Given the description of an element on the screen output the (x, y) to click on. 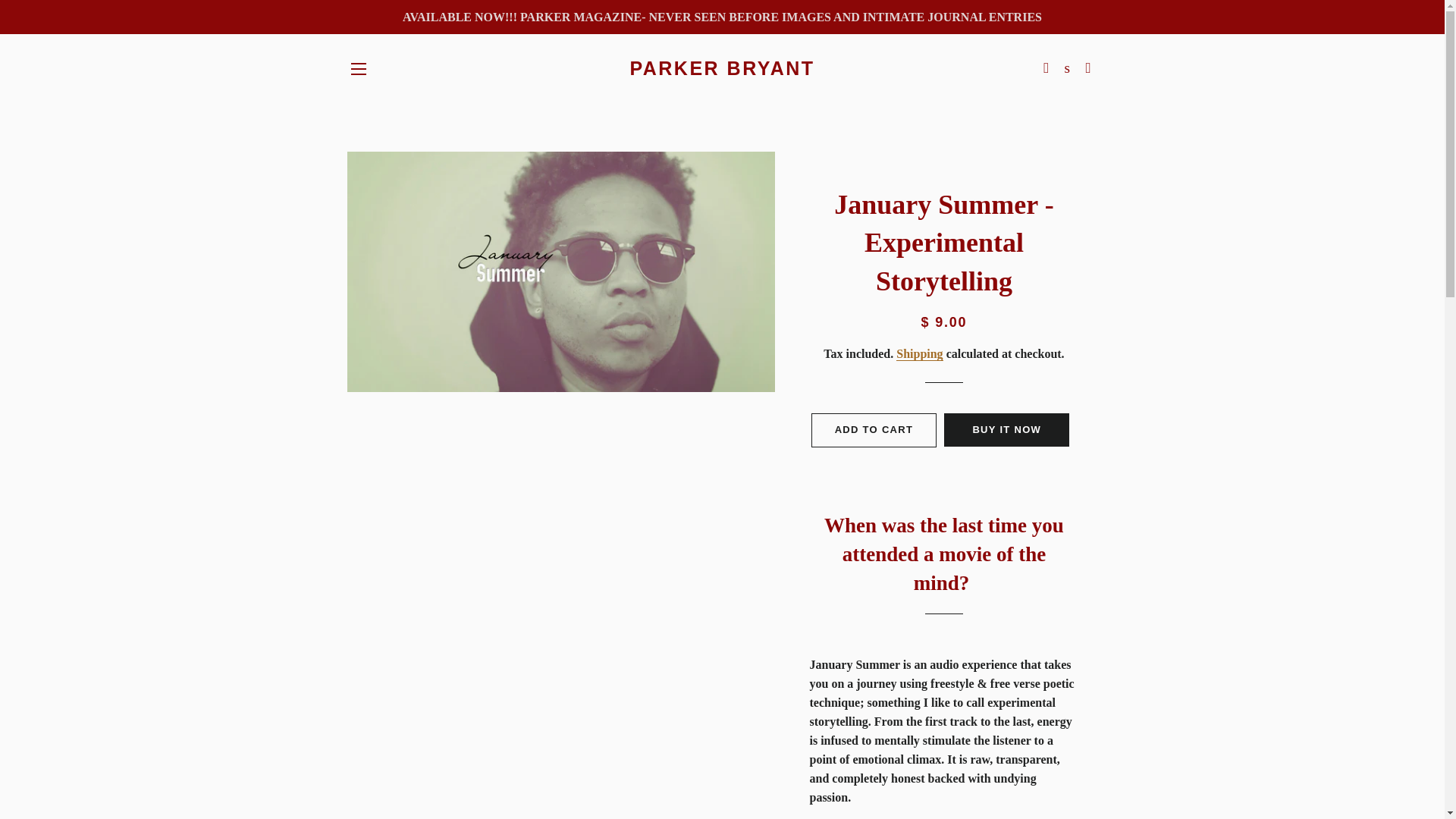
Shipping (919, 354)
ADD TO CART (873, 429)
PARKER BRYANT (721, 68)
SITE NAVIGATION (358, 68)
BUY IT NOW (1005, 429)
